Given the description of an element on the screen output the (x, y) to click on. 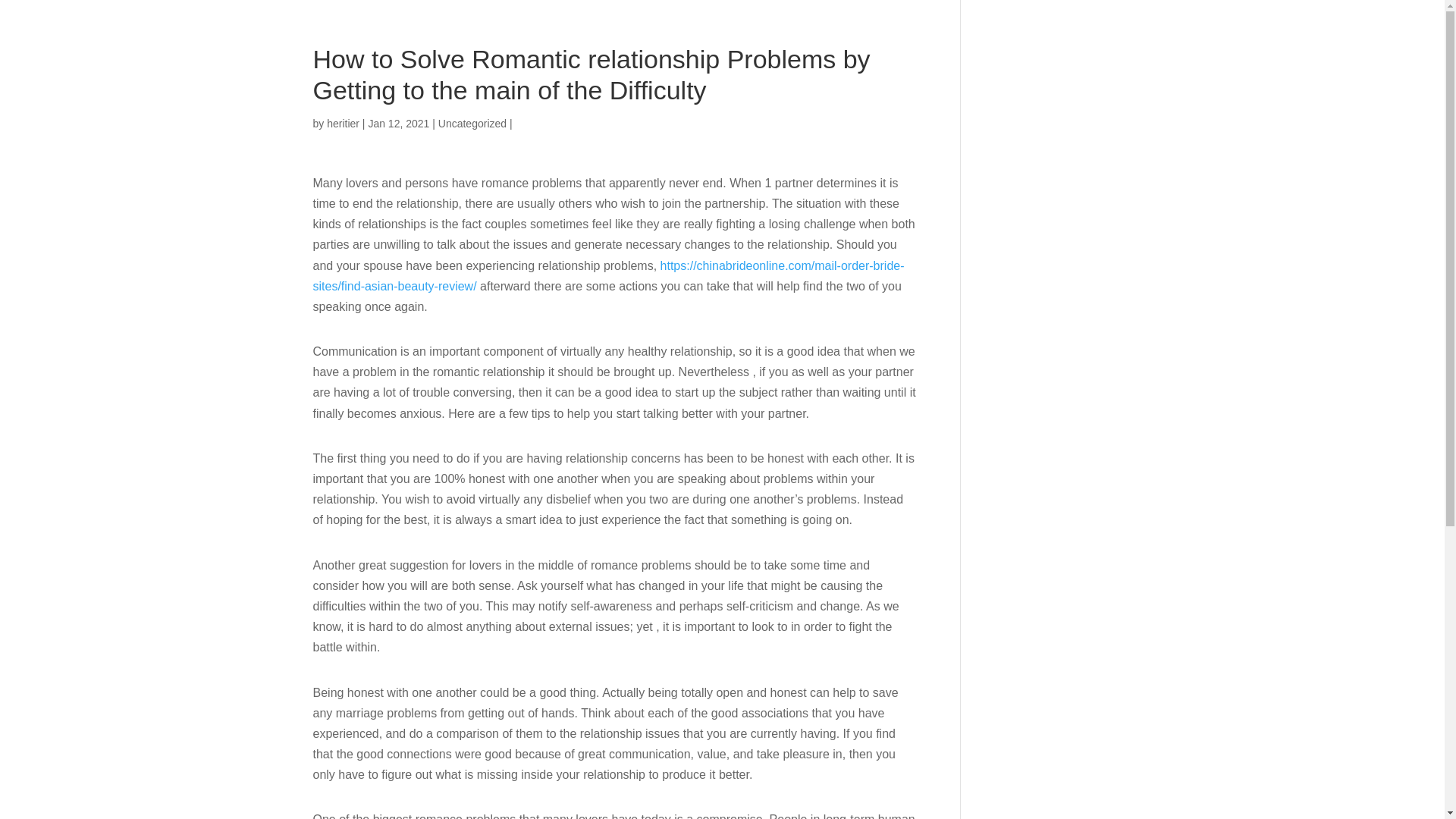
Posts by heritier (342, 123)
Uncategorized (472, 123)
heritier (342, 123)
